Given the description of an element on the screen output the (x, y) to click on. 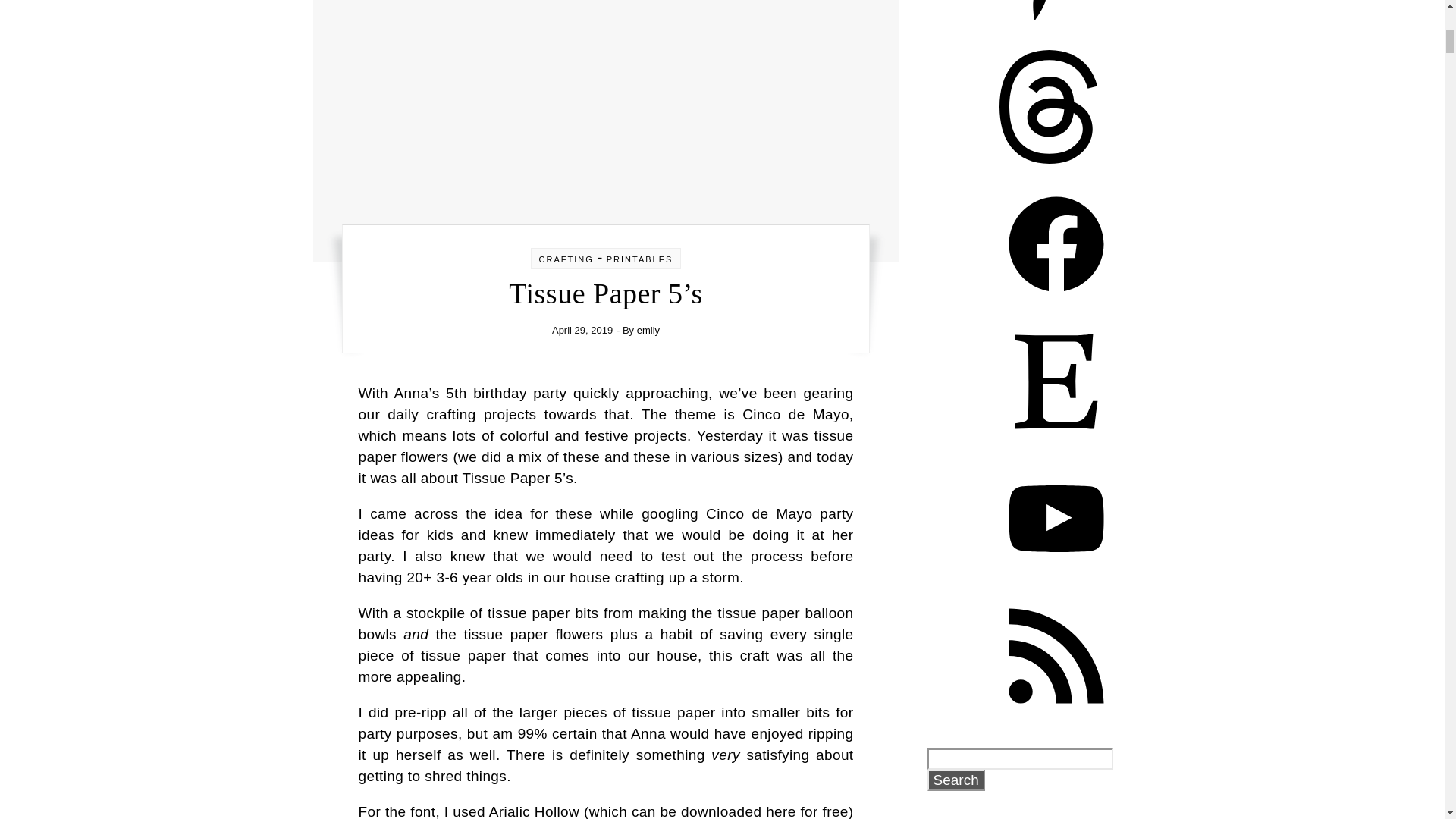
CRAFTING (566, 258)
Posts by emily (648, 329)
Search (955, 780)
PRINTABLES (639, 258)
